Given the description of an element on the screen output the (x, y) to click on. 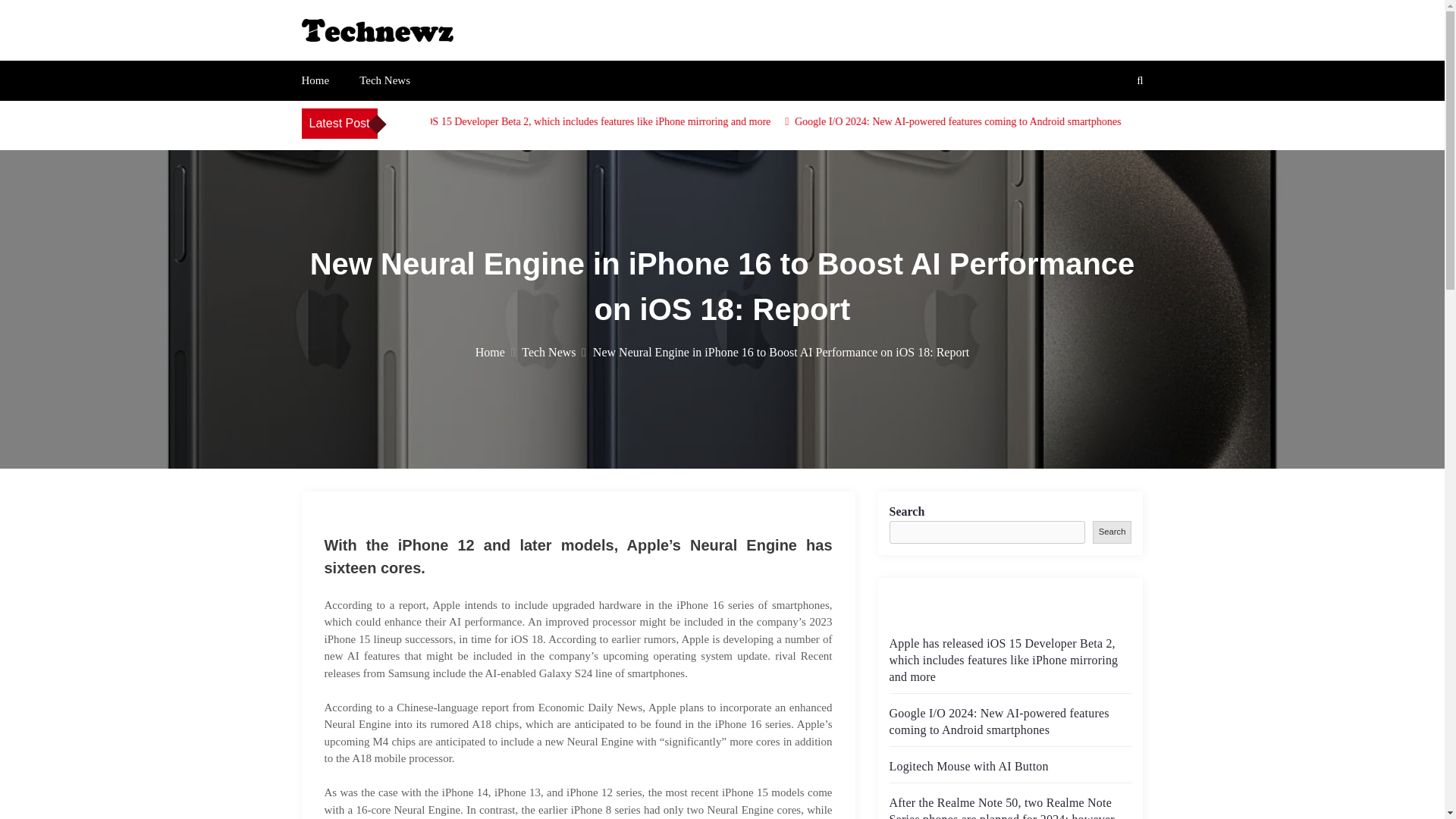
Logitech Mouse with AI Button (968, 766)
Home (315, 80)
Home (495, 351)
Tech Newz (359, 58)
Tech News (553, 351)
Search (1112, 532)
Tech News (384, 80)
